Given the description of an element on the screen output the (x, y) to click on. 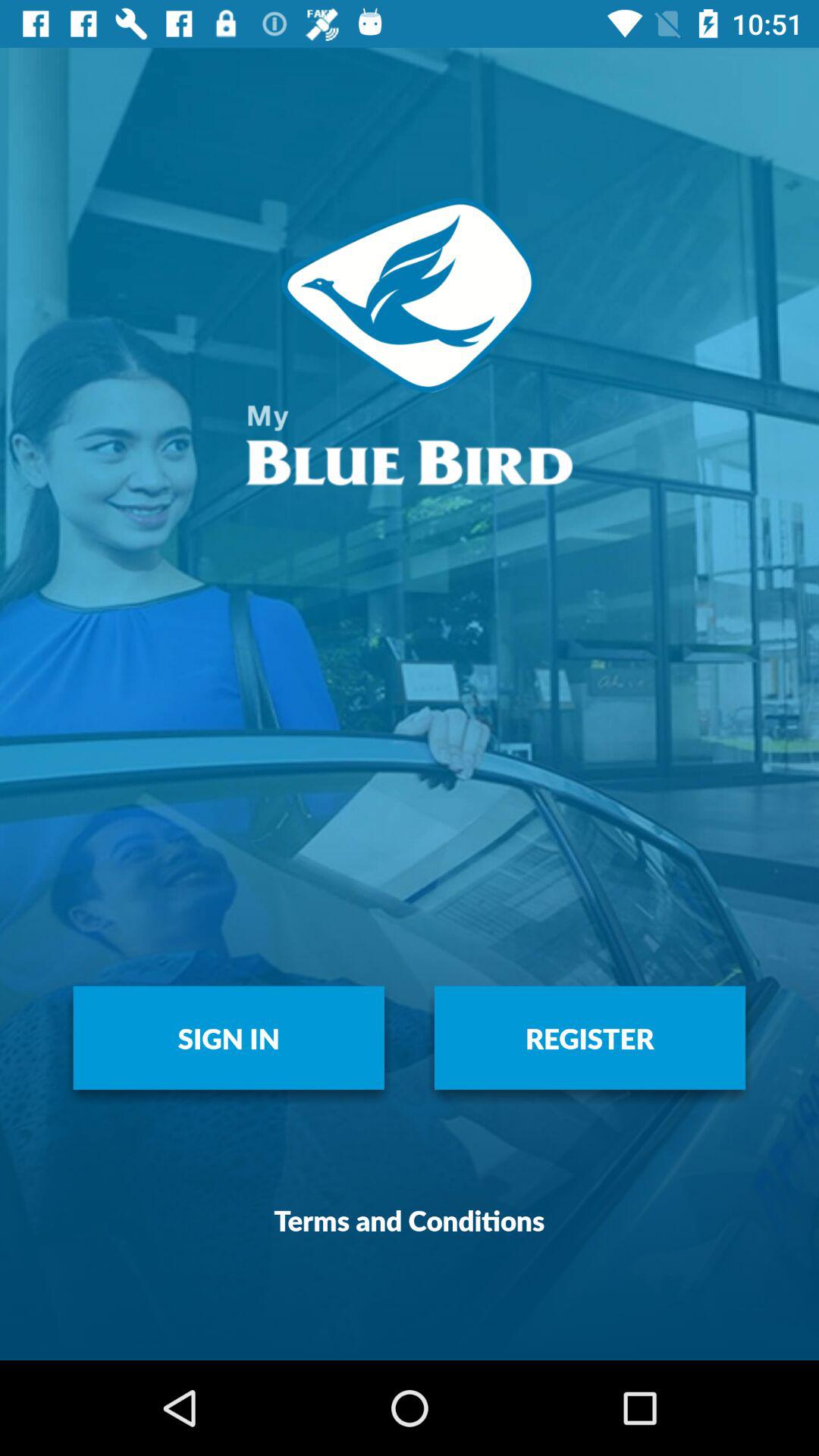
flip until the terms and conditions item (409, 1219)
